Given the description of an element on the screen output the (x, y) to click on. 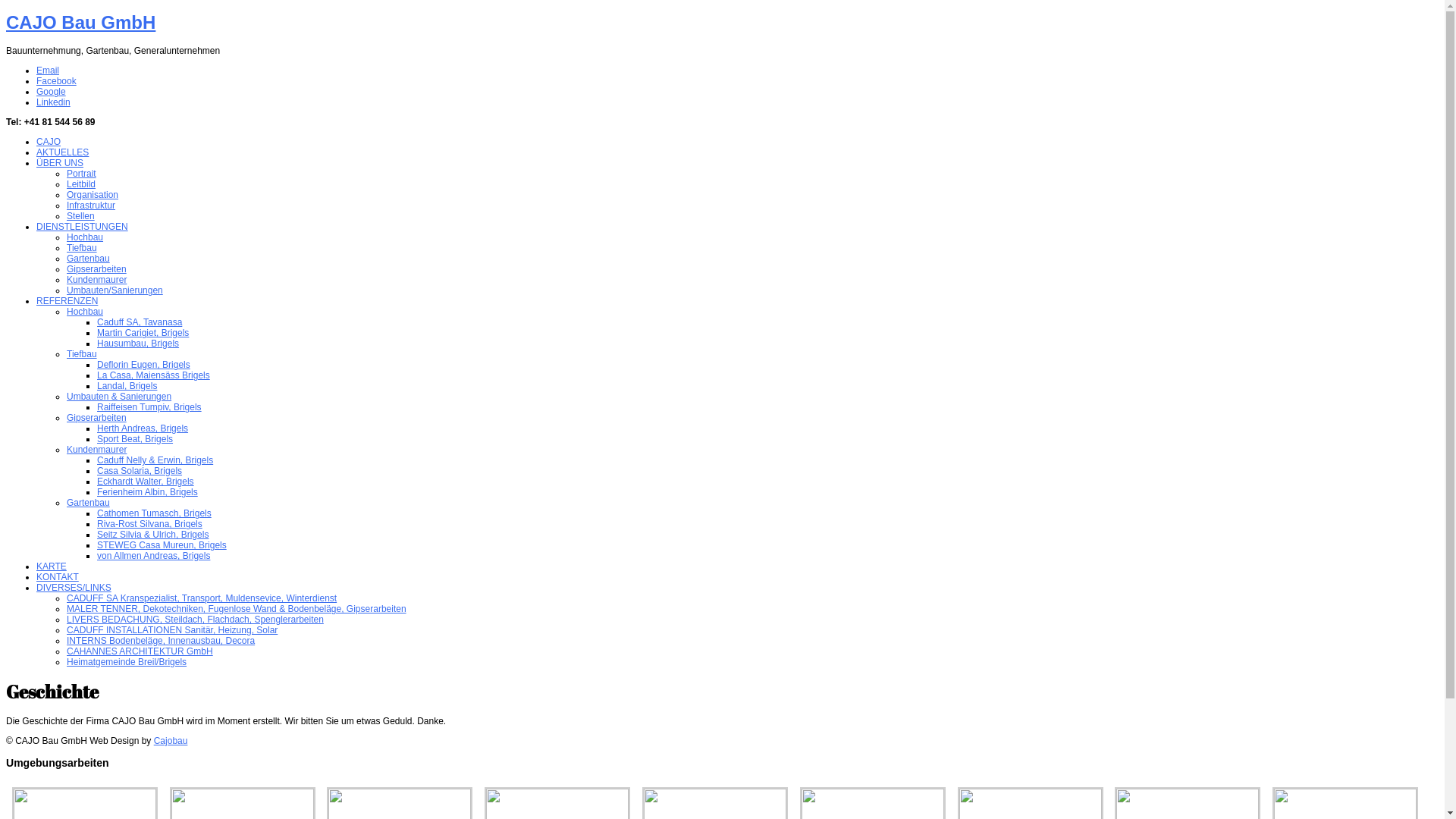
KONTAKT Element type: text (57, 576)
Umbauten & Sanierungen Element type: text (118, 396)
Martin Carigiet, Brigels Element type: text (142, 332)
Email Element type: text (47, 70)
Kundenmaurer Element type: text (96, 279)
von Allmen Andreas, Brigels Element type: text (153, 555)
Raiffeisen Tumpiv, Brigels Element type: text (149, 406)
Cajobau Element type: text (170, 740)
AKTUELLES Element type: text (62, 152)
Hochbau Element type: text (84, 311)
Tiefbau Element type: text (81, 247)
KARTE Element type: text (51, 566)
Facebook Element type: text (56, 80)
Infrastruktur Element type: text (90, 205)
Eckhardt Walter, Brigels Element type: text (145, 481)
CAJO Bau GmbH Element type: text (80, 22)
Google Element type: text (50, 91)
Leitbild Element type: text (80, 183)
REFERENZEN Element type: text (66, 300)
Herth Andreas, Brigels Element type: text (142, 428)
Portrait Element type: text (81, 173)
CAJO Element type: text (48, 141)
Umbauten/Sanierungen Element type: text (114, 290)
Ferienheim Albin, Brigels Element type: text (147, 491)
Seitz Silvia & Ulrich, Brigels Element type: text (152, 534)
Gartenbau Element type: text (87, 258)
Hausumbau, Brigels Element type: text (137, 343)
DIVERSES/LINKS Element type: text (73, 587)
Caduff SA, Tavanasa Element type: text (139, 321)
Kundenmaurer Element type: text (96, 449)
Organisation Element type: text (92, 194)
Casa Solaria, Brigels Element type: text (139, 470)
Sport Beat, Brigels Element type: text (134, 438)
LIVERS BEDACHUNG, Steildach, Flachdach, Spenglerarbeiten Element type: text (194, 619)
Caduff Nelly & Erwin, Brigels Element type: text (155, 460)
Deflorin Eugen, Brigels Element type: text (143, 364)
Landal, Brigels Element type: text (126, 385)
Tiefbau Element type: text (81, 353)
Hochbau Element type: text (84, 237)
Gipserarbeiten Element type: text (96, 417)
Gipserarbeiten Element type: text (96, 268)
STEWEG Casa Mureun, Brigels Element type: text (161, 544)
Gartenbau Element type: text (87, 502)
Stellen Element type: text (80, 215)
CAHANNES ARCHITEKTUR GmbH Element type: text (139, 651)
Cathomen Tumasch, Brigels Element type: text (154, 513)
DIENSTLEISTUNGEN Element type: text (82, 226)
Heimatgemeinde Breil/Brigels Element type: text (126, 661)
Linkedin Element type: text (53, 102)
Riva-Rost Silvana, Brigels Element type: text (149, 523)
